Given the description of an element on the screen output the (x, y) to click on. 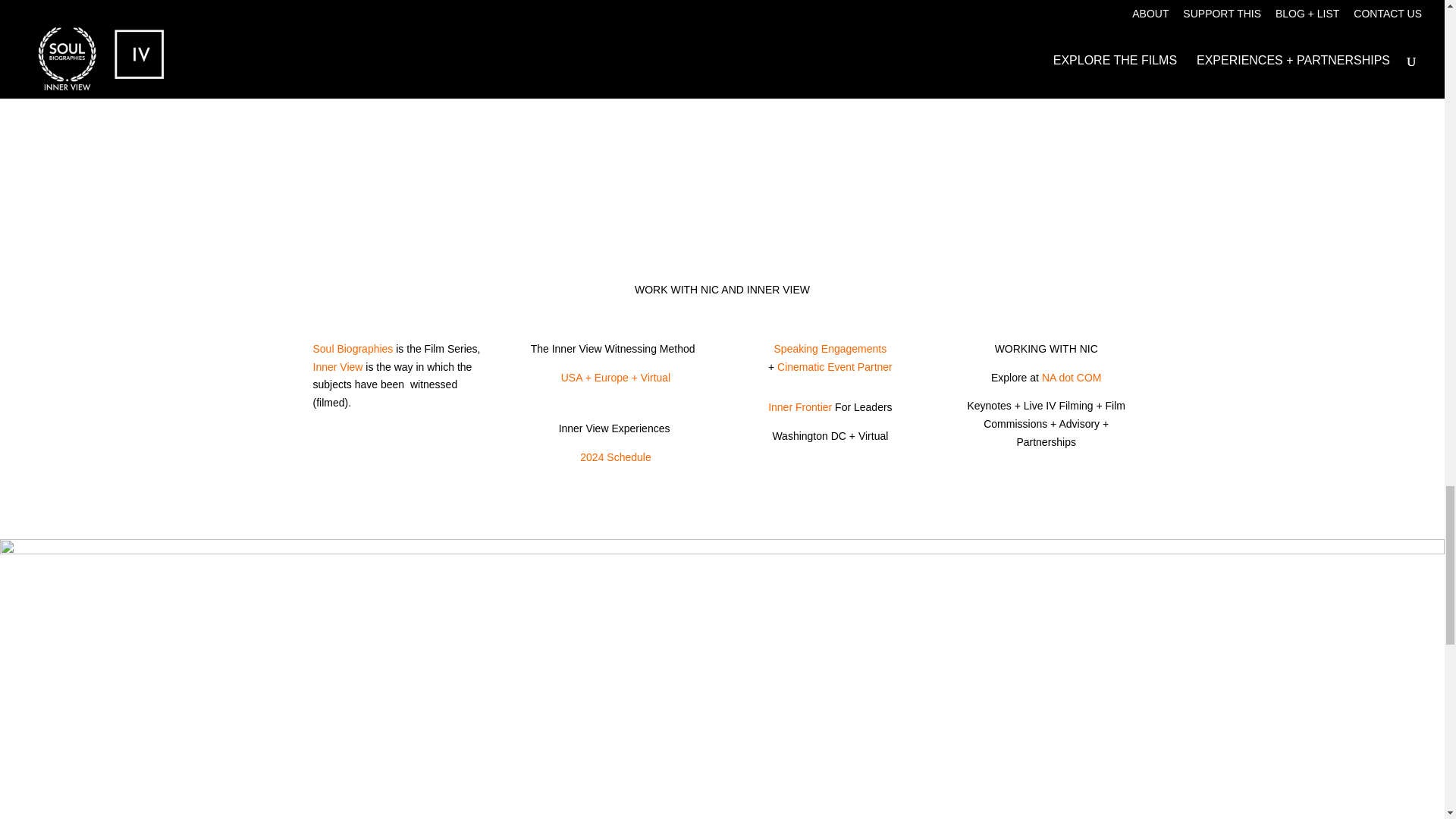
Cinematic Event Partner (834, 367)
Soul Biographies (353, 348)
NA dot COM (1072, 377)
Speaking Engagements (830, 348)
 2024 Schedule (613, 457)
Inner View (337, 367)
Inner Frontier (799, 407)
